Given the description of an element on the screen output the (x, y) to click on. 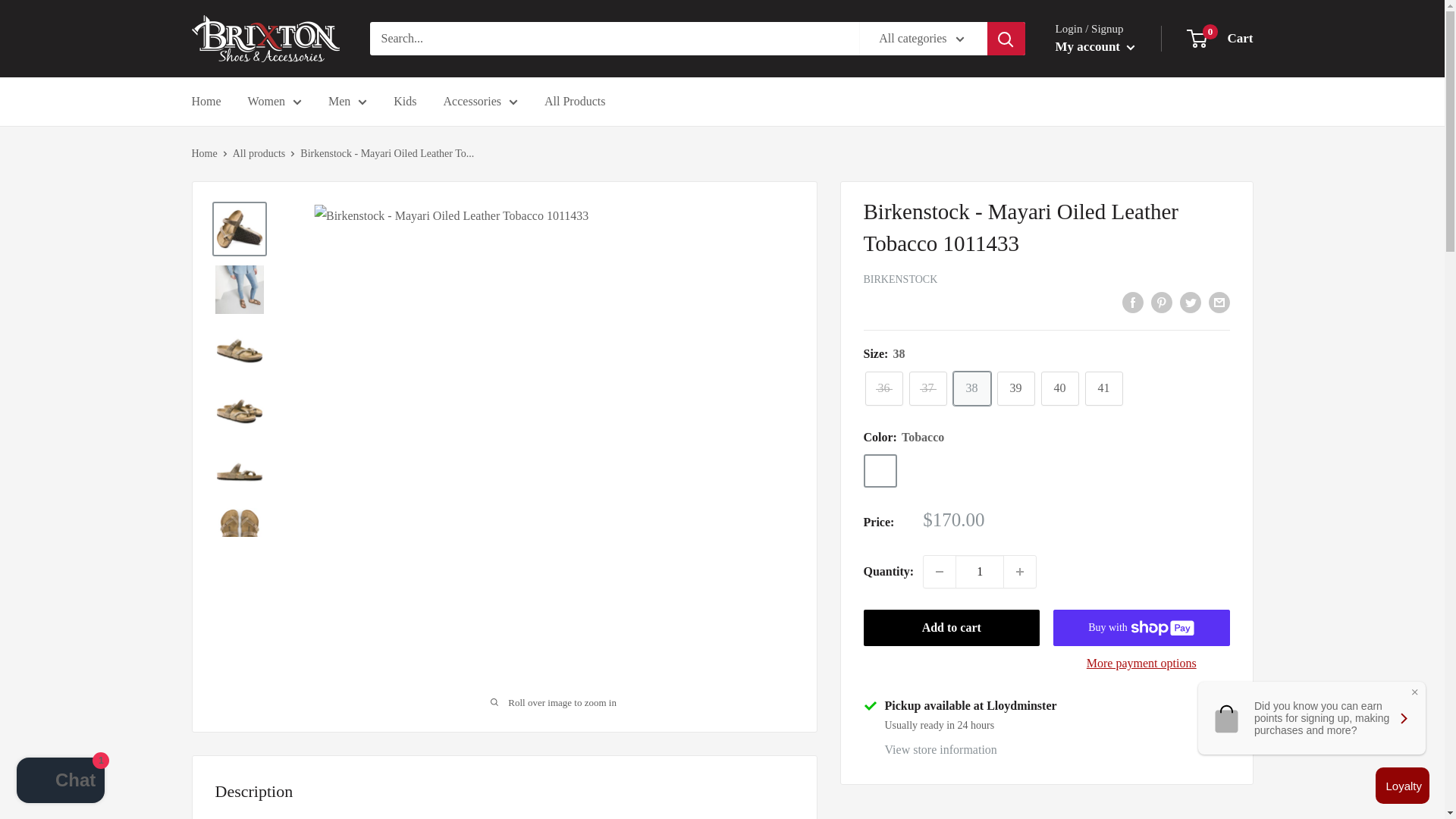
38 (971, 388)
40 (1059, 388)
39 (1014, 388)
Brixton Shoes and Accessories (264, 38)
Shopify online store chat (60, 781)
LoyaltyLion beacon (1402, 785)
Tobacco (879, 470)
Increase quantity by 1 (1019, 572)
41 (1103, 388)
Decrease quantity by 1 (939, 572)
36 (883, 388)
37 (927, 388)
1 (979, 572)
